Given the description of an element on the screen output the (x, y) to click on. 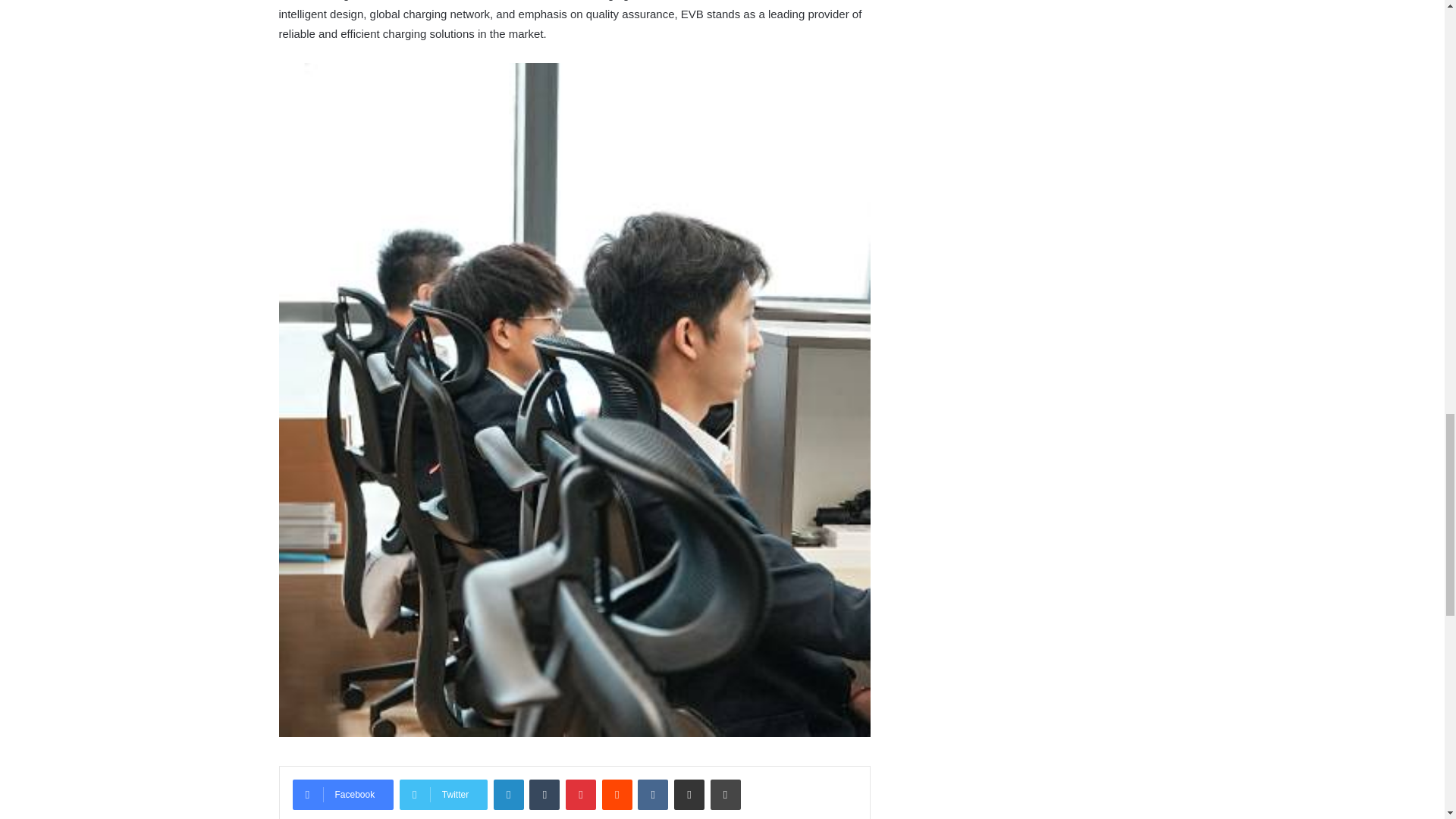
Pinterest (580, 794)
LinkedIn (508, 794)
VKontakte (652, 794)
Print (725, 794)
LinkedIn (508, 794)
Facebook (343, 794)
Reddit (616, 794)
Twitter (442, 794)
Reddit (616, 794)
VKontakte (652, 794)
Tumblr (544, 794)
Twitter (442, 794)
Share via Email (689, 794)
Pinterest (580, 794)
Facebook (343, 794)
